Given the description of an element on the screen output the (x, y) to click on. 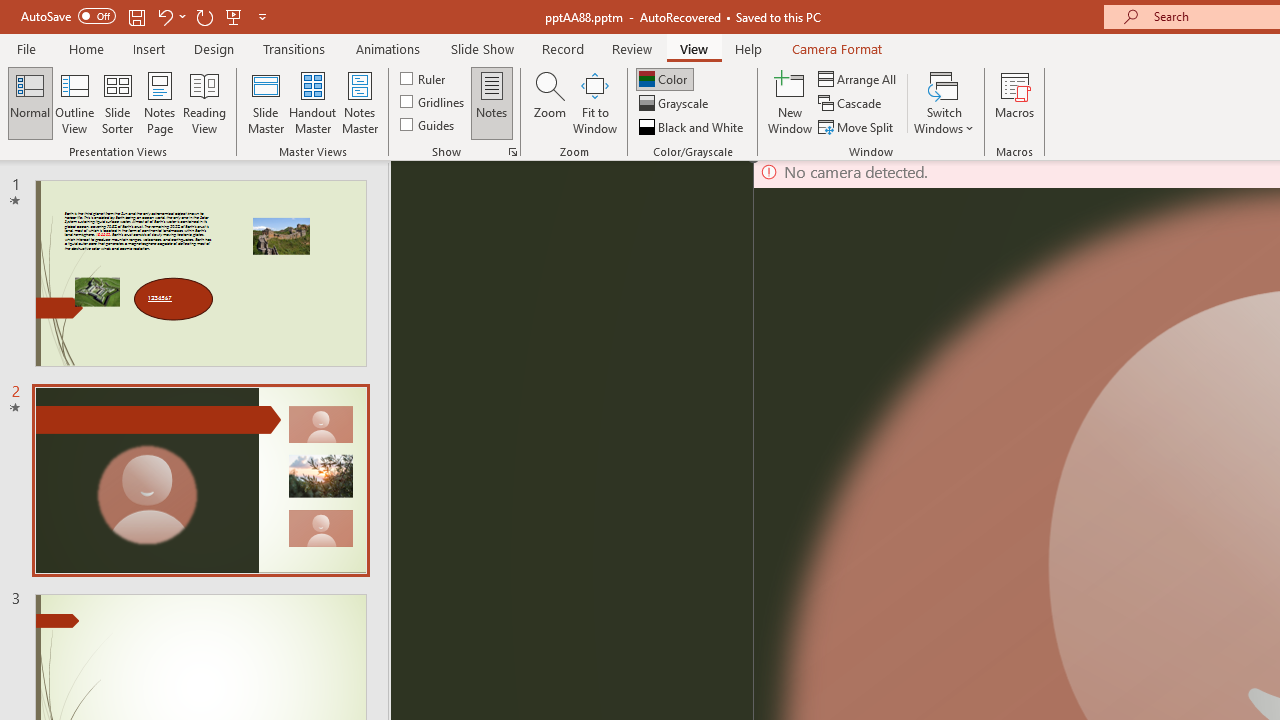
Zoom... (549, 102)
AutoSave (68, 16)
Quick Access Toolbar (145, 16)
Design (214, 48)
Transitions (294, 48)
Fit to Window (594, 102)
Handout Master (312, 102)
Slide (200, 480)
Notes Master (360, 102)
Macros (1014, 102)
